Given the description of an element on the screen output the (x, y) to click on. 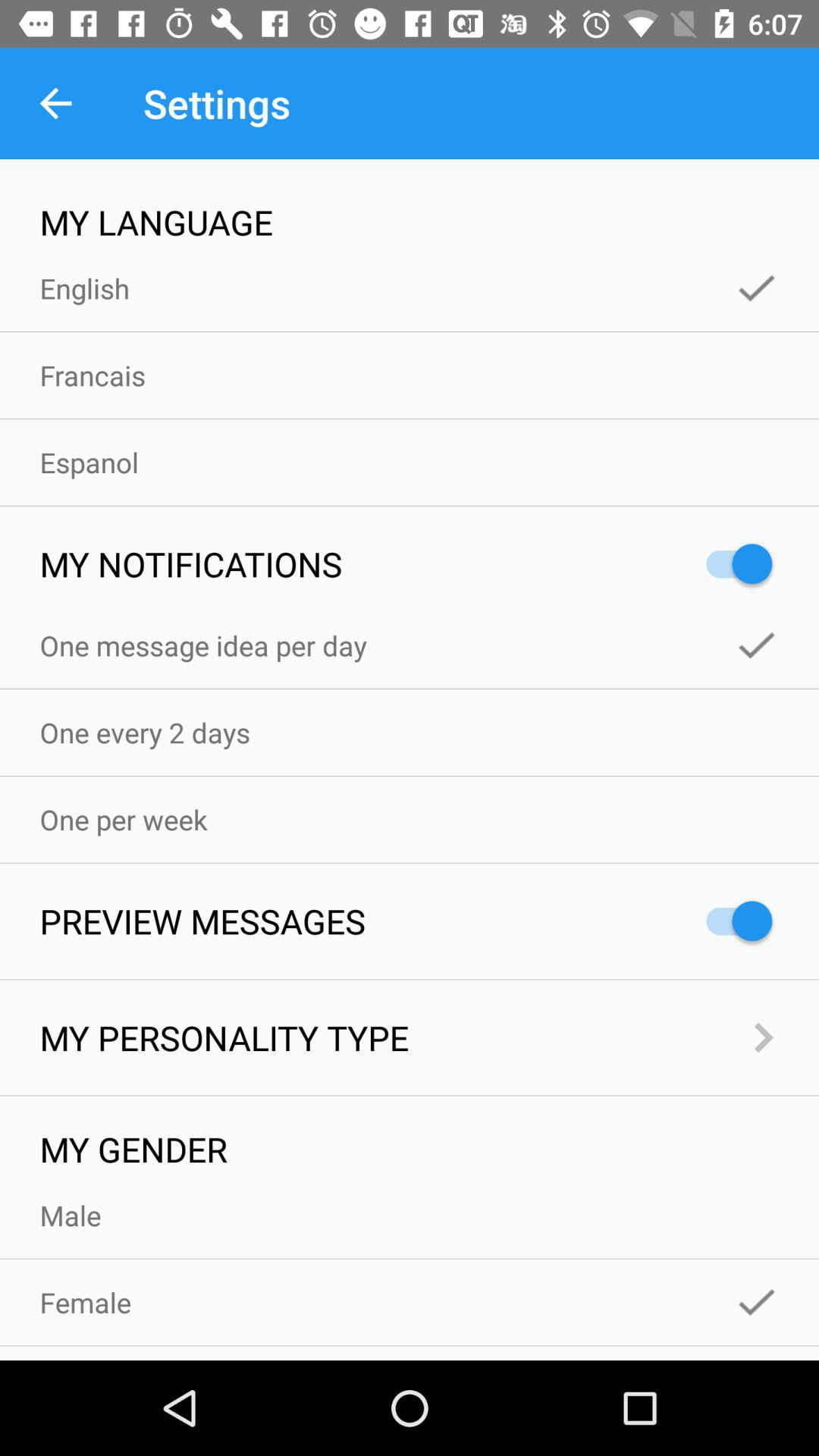
choose item to the left of settings (55, 103)
